Given the description of an element on the screen output the (x, y) to click on. 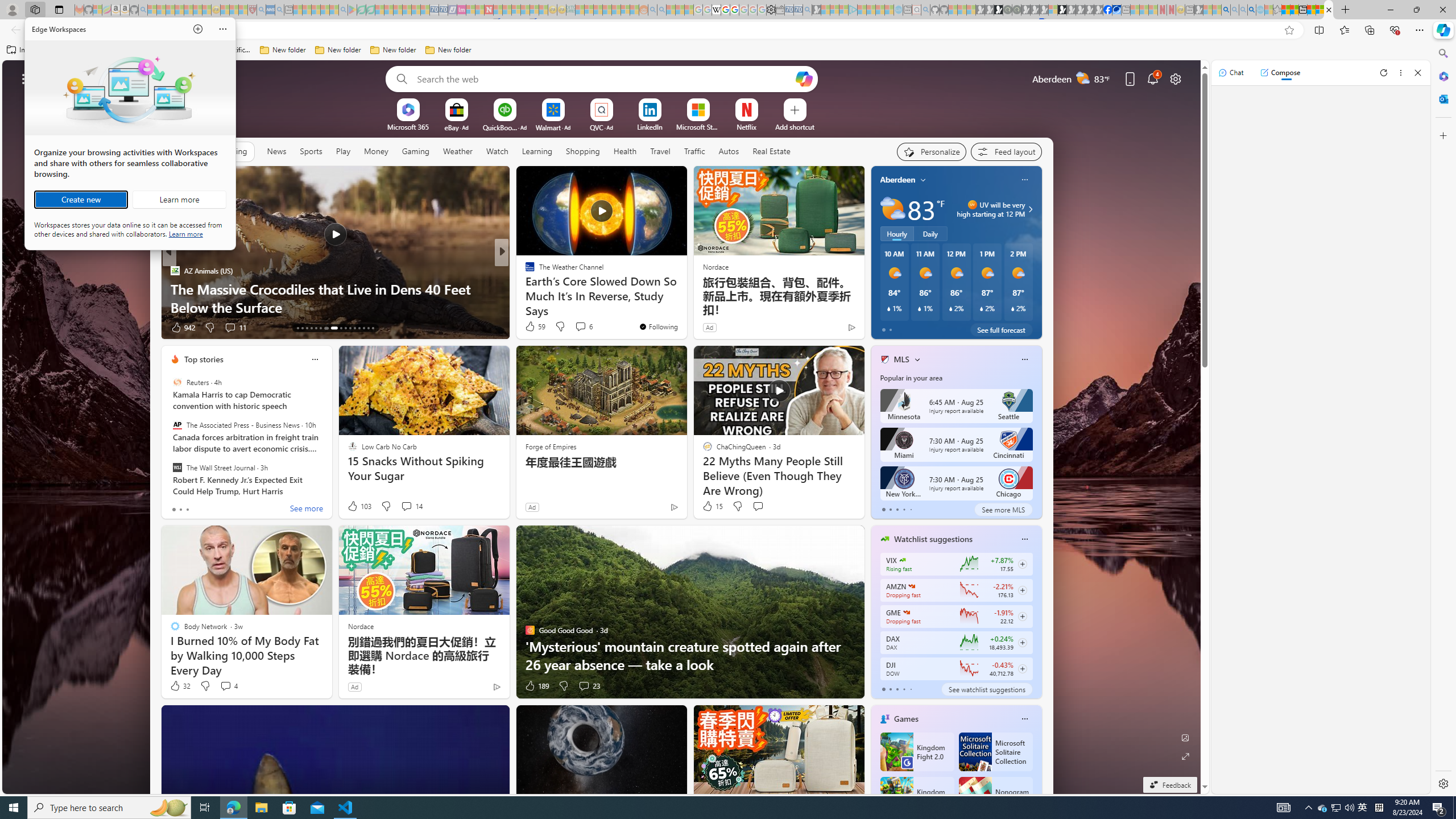
Daily (929, 233)
Sports (310, 151)
Create new workspace (80, 199)
More interests (917, 359)
See full forecast (1000, 329)
The Associated Press - Business News (176, 424)
Health (624, 151)
Rarest.org (524, 288)
Watchlist suggestions (932, 538)
